Given the description of an element on the screen output the (x, y) to click on. 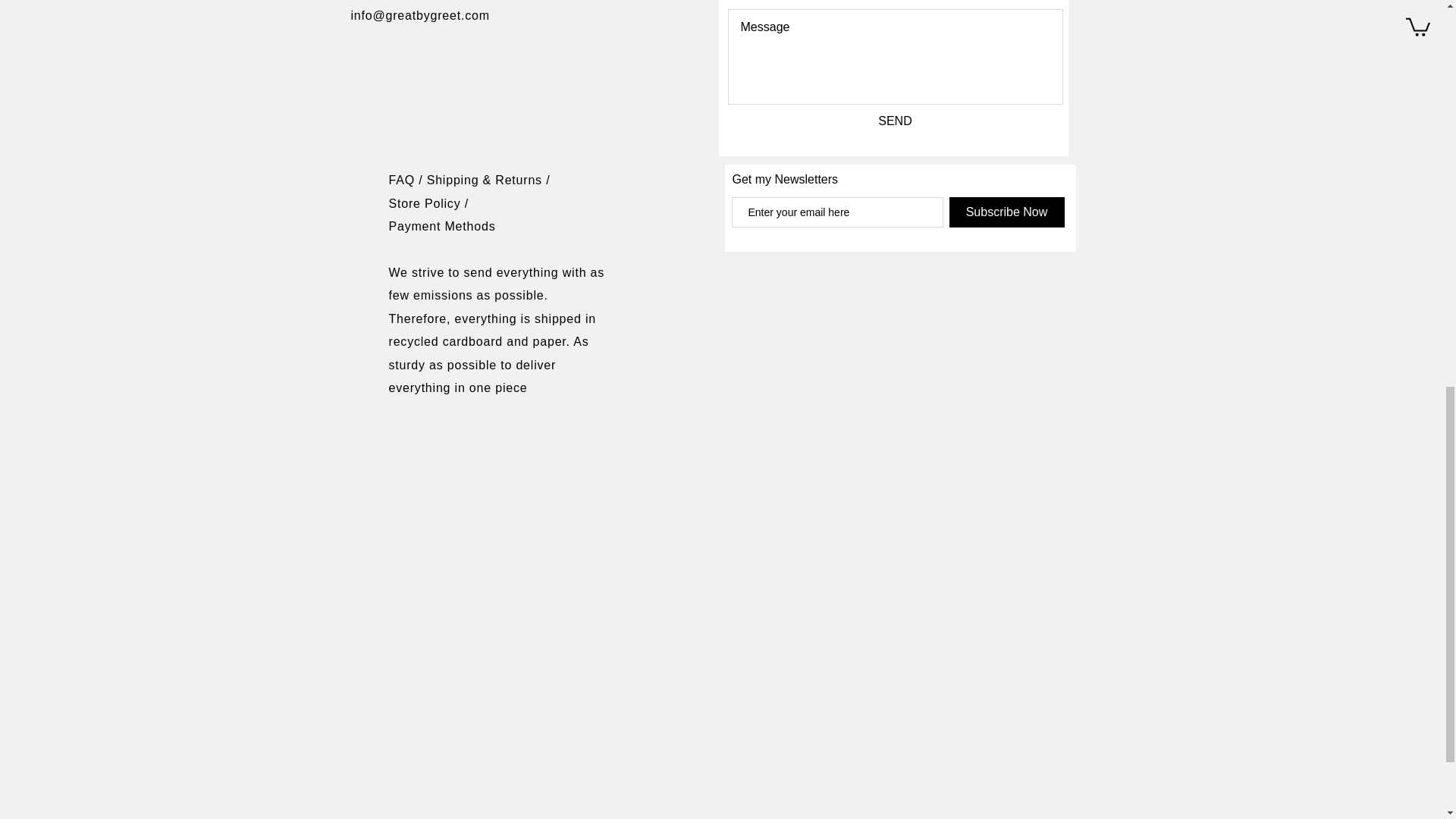
Store Policy  (426, 203)
SEND (895, 120)
Payment Methods (441, 226)
Subscribe Now (1006, 212)
